Given the description of an element on the screen output the (x, y) to click on. 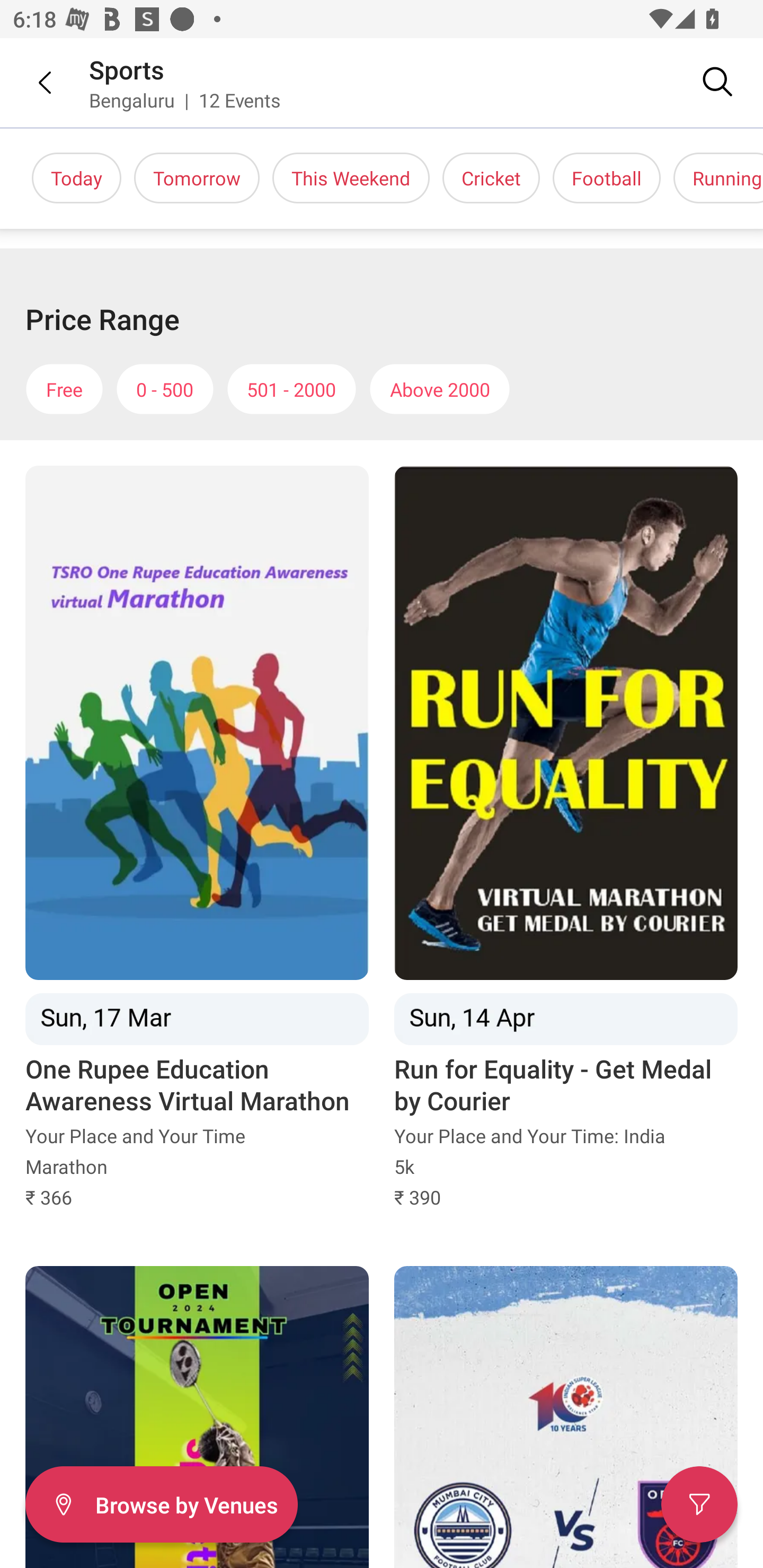
Back (31, 82)
Sports (126, 68)
Bengaluru  |  12 Events (185, 99)
Today (76, 177)
Tomorrow (196, 177)
This Weekend (350, 177)
Cricket (491, 177)
Football (606, 177)
Running (718, 177)
Free (64, 389)
0 - 500 (164, 389)
501 - 2000 (291, 389)
Above 2000 (439, 389)
Filter Browse by Venues (161, 1504)
Filter (699, 1504)
